Given the description of an element on the screen output the (x, y) to click on. 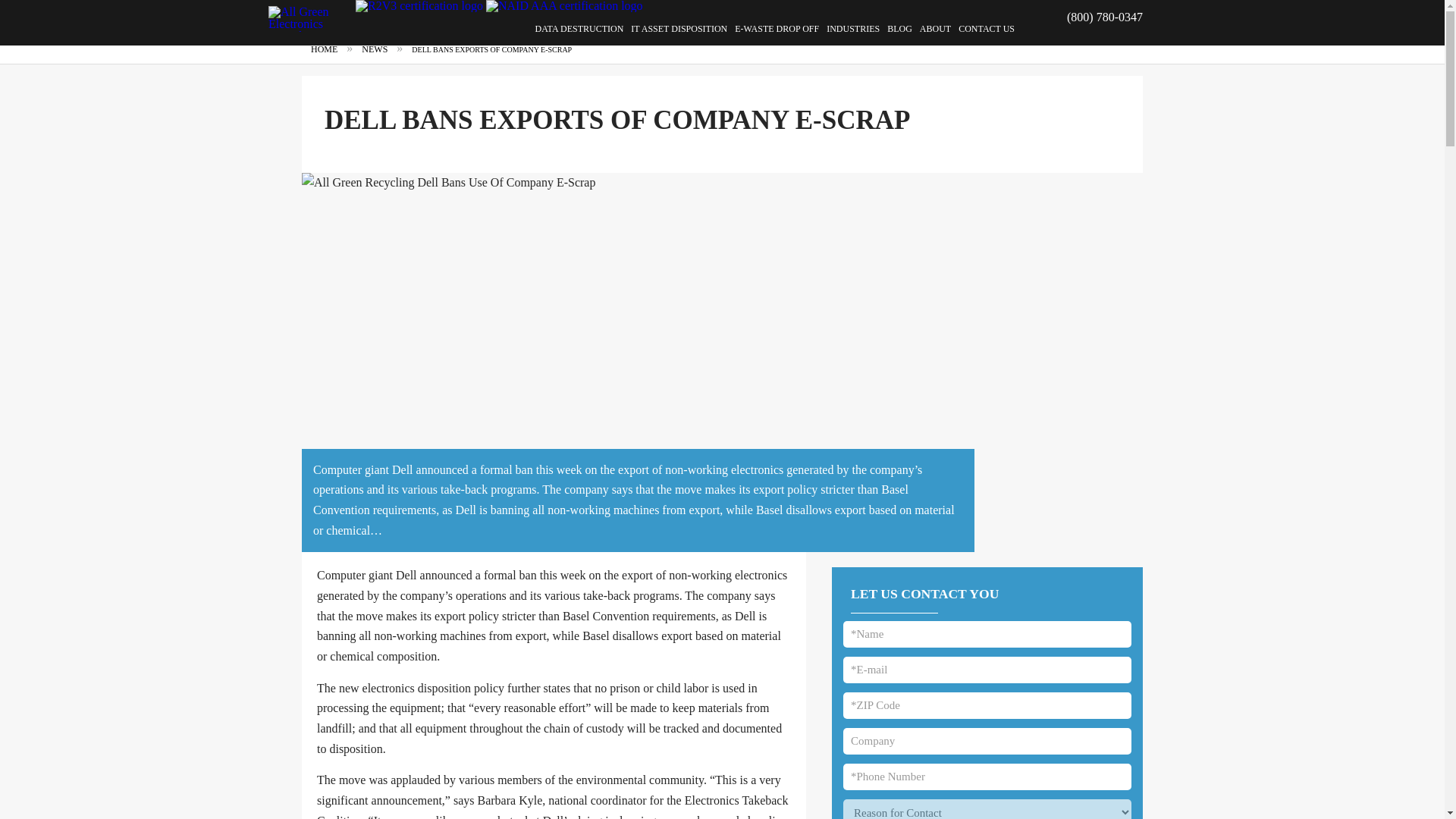
DATA DESTRUCTION (579, 28)
E-WASTE DROP OFF (776, 28)
IT ASSET DISPOSITION (678, 28)
NEWS (373, 49)
HOME (323, 49)
DELL BANS EXPORTS OF COMPANY E-SCRAP (491, 49)
ABOUT (935, 28)
INDUSTRIES (852, 28)
Go to News. (373, 49)
